Given the description of an element on the screen output the (x, y) to click on. 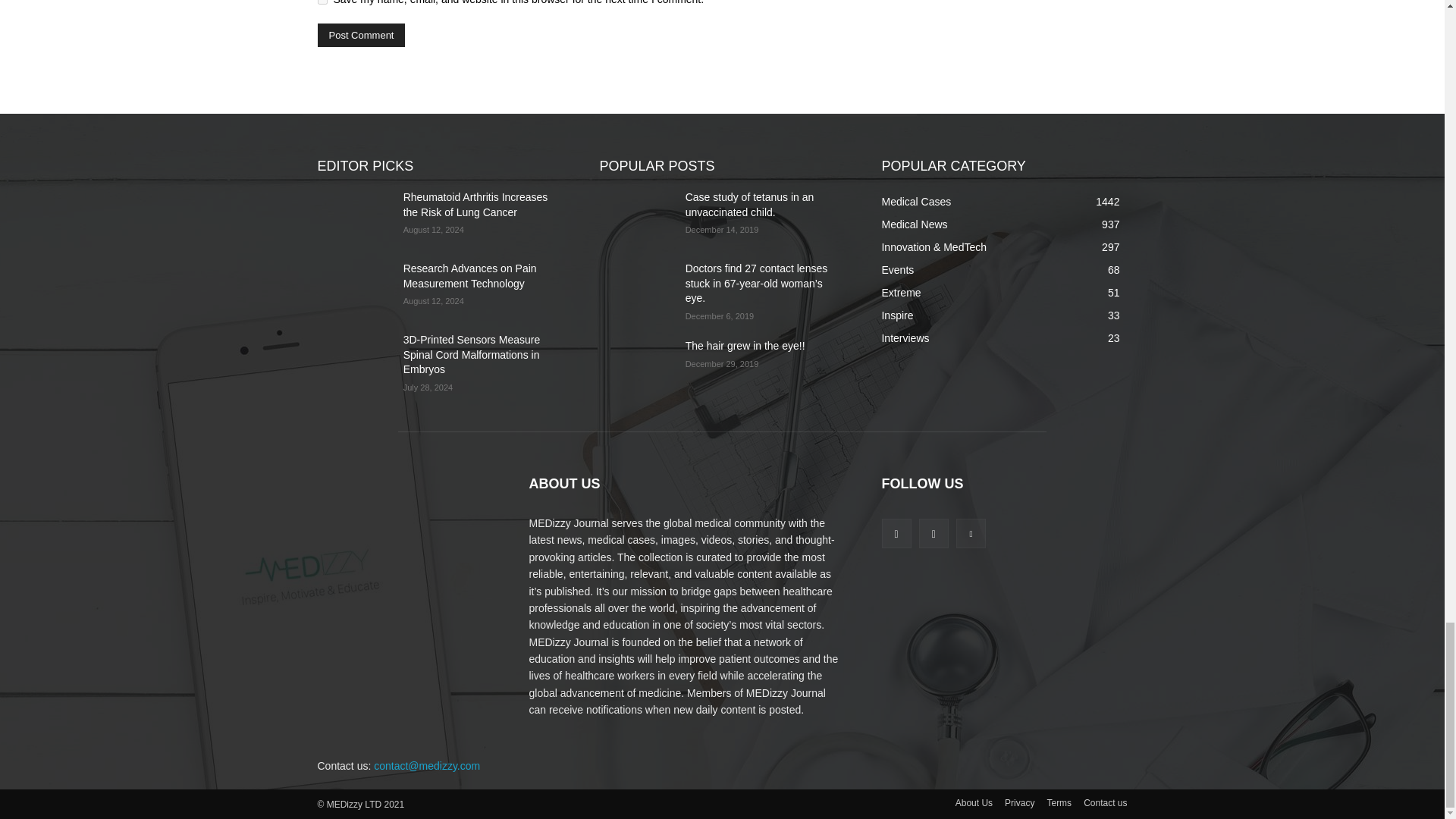
Post Comment (360, 34)
Rheumatoid Arthritis Increases the Risk of Lung Cancer (353, 215)
yes (321, 2)
